Given the description of an element on the screen output the (x, y) to click on. 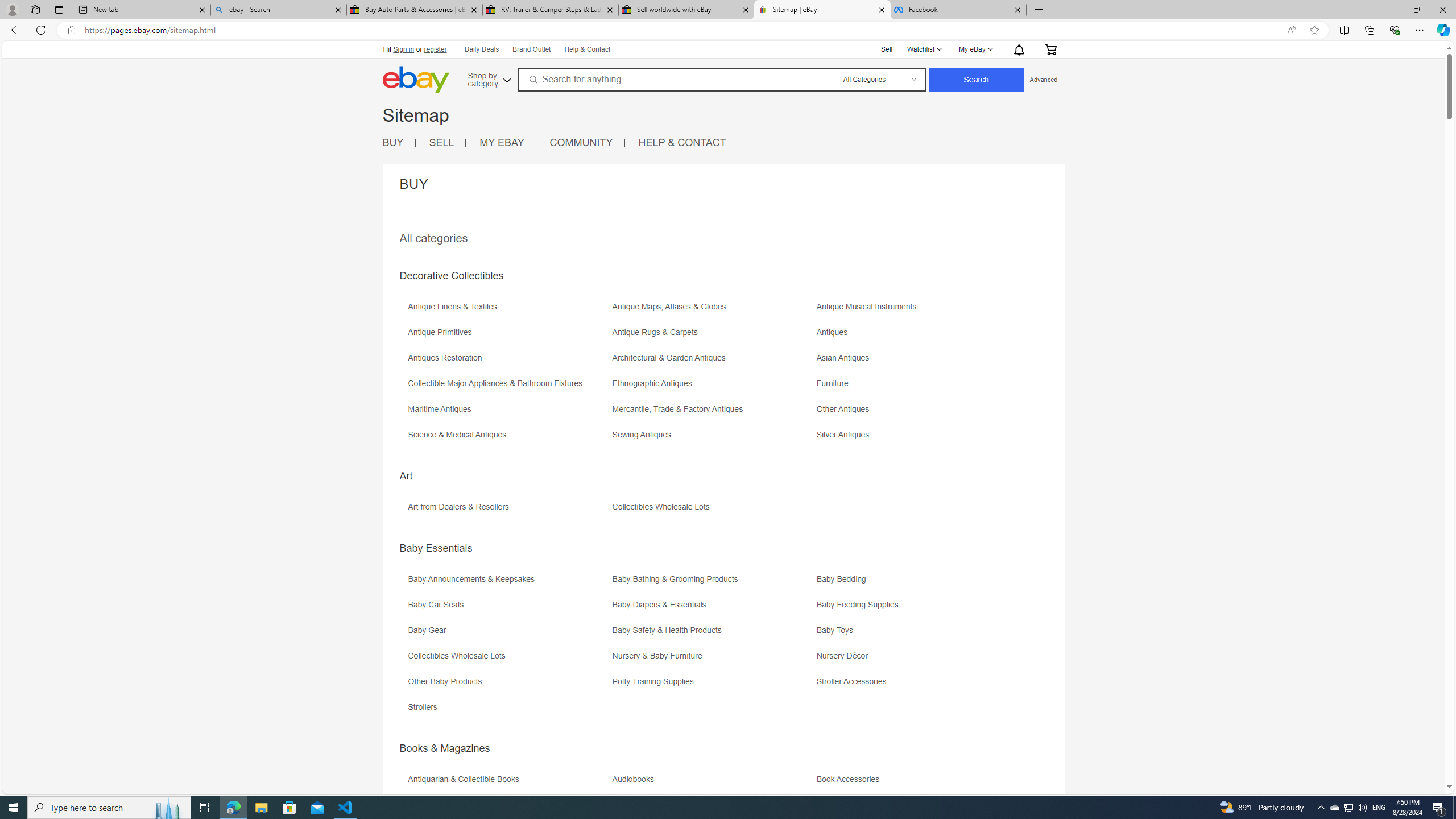
Asian Antiques (917, 361)
Potty Training Supplies (712, 685)
Book Accessories (850, 779)
Collectibles Wholesale Lots (459, 655)
View site information (70, 29)
Antique Maps, Atlases & Globes (671, 306)
BUY (398, 142)
Antiques (917, 336)
Read aloud this page (Ctrl+Shift+U) (1291, 29)
Add this page to favorites (Ctrl+D) (1314, 29)
Sewing Antiques (712, 438)
MY EBAY (507, 142)
Collectible Major Appliances & Bathroom Fixtures (508, 387)
BUY (392, 142)
Restore (1416, 9)
